Given the description of an element on the screen output the (x, y) to click on. 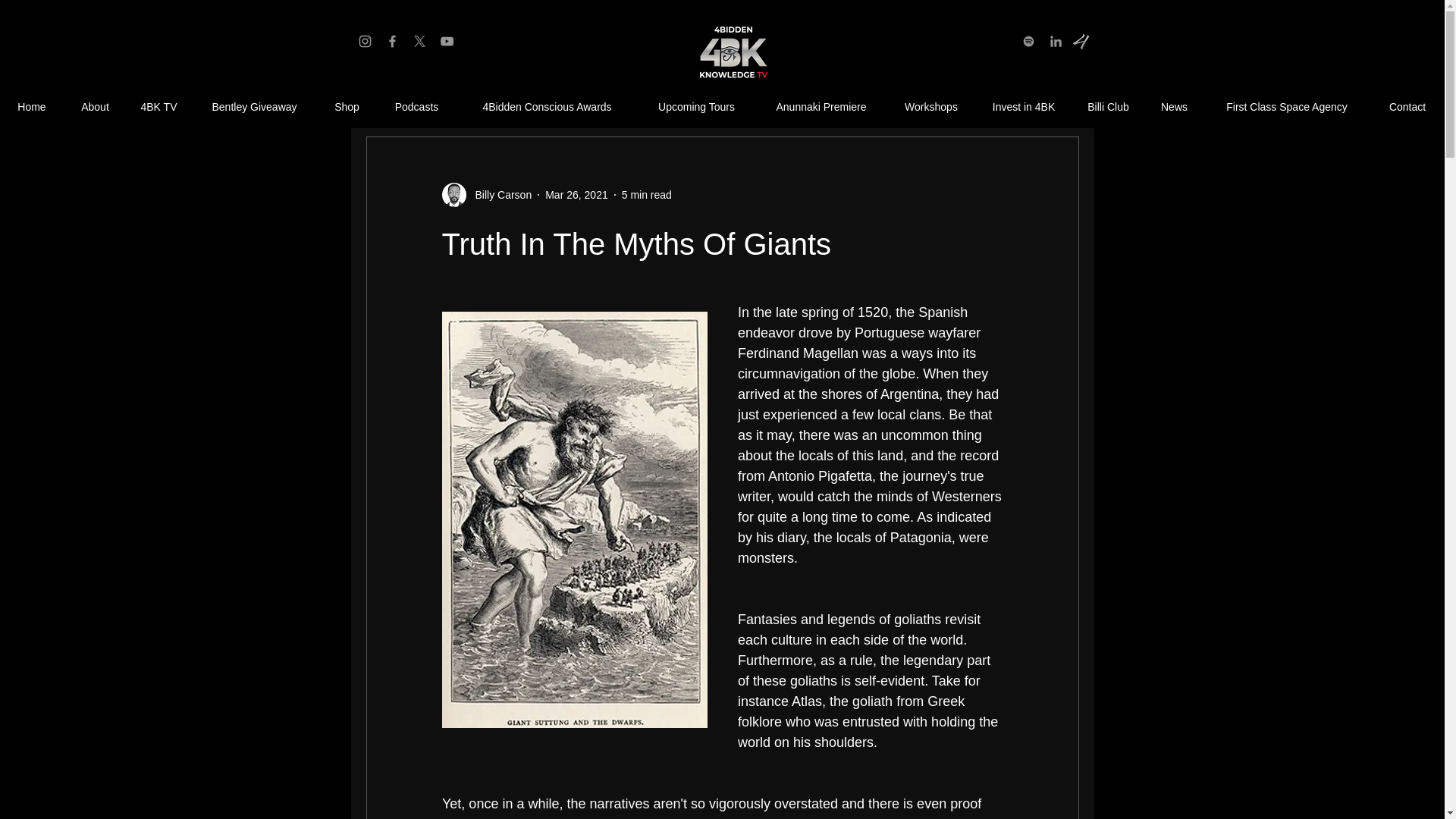
Billy Carson (486, 194)
Home (32, 107)
Mar 26, 2021 (576, 193)
Billy Carson (498, 194)
Bentley Giveaway (253, 107)
Anunnaki Premiere (820, 107)
Billi Club (1107, 107)
4BiddenKnowledge (731, 52)
5 min read (646, 193)
First Class Space Agency (1287, 107)
Workshops (930, 107)
Invest in 4BK (1023, 107)
